Given the description of an element on the screen output the (x, y) to click on. 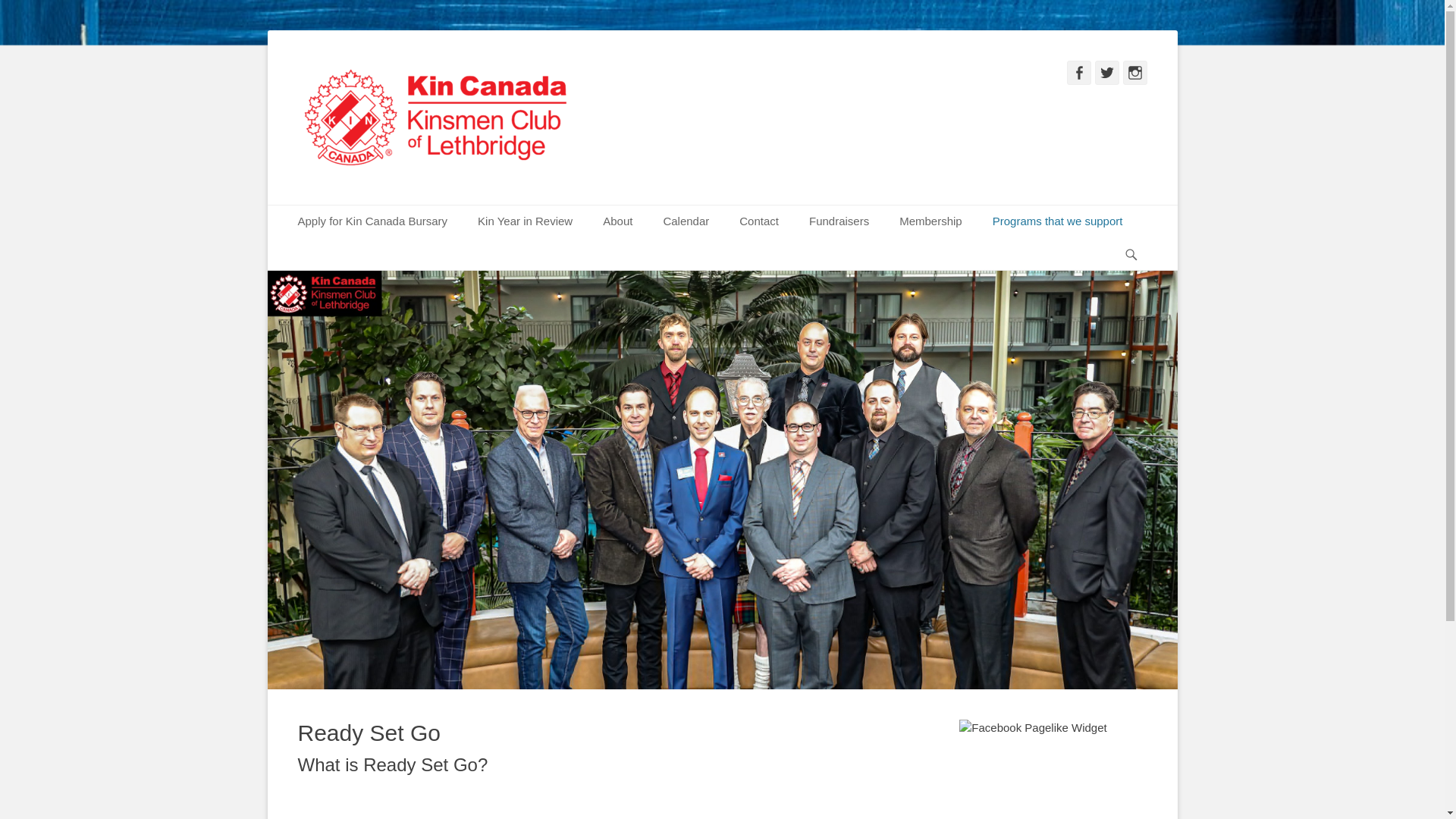
Facebook (1077, 72)
Twitter (1106, 72)
Programs that we support (1057, 221)
Twitter (1106, 72)
Apply for Kin Canada Bursary (372, 221)
Contact (758, 221)
Kin Year in Review (525, 221)
Fundraisers (838, 221)
Membership (929, 221)
Instagram (1134, 72)
